Given the description of an element on the screen output the (x, y) to click on. 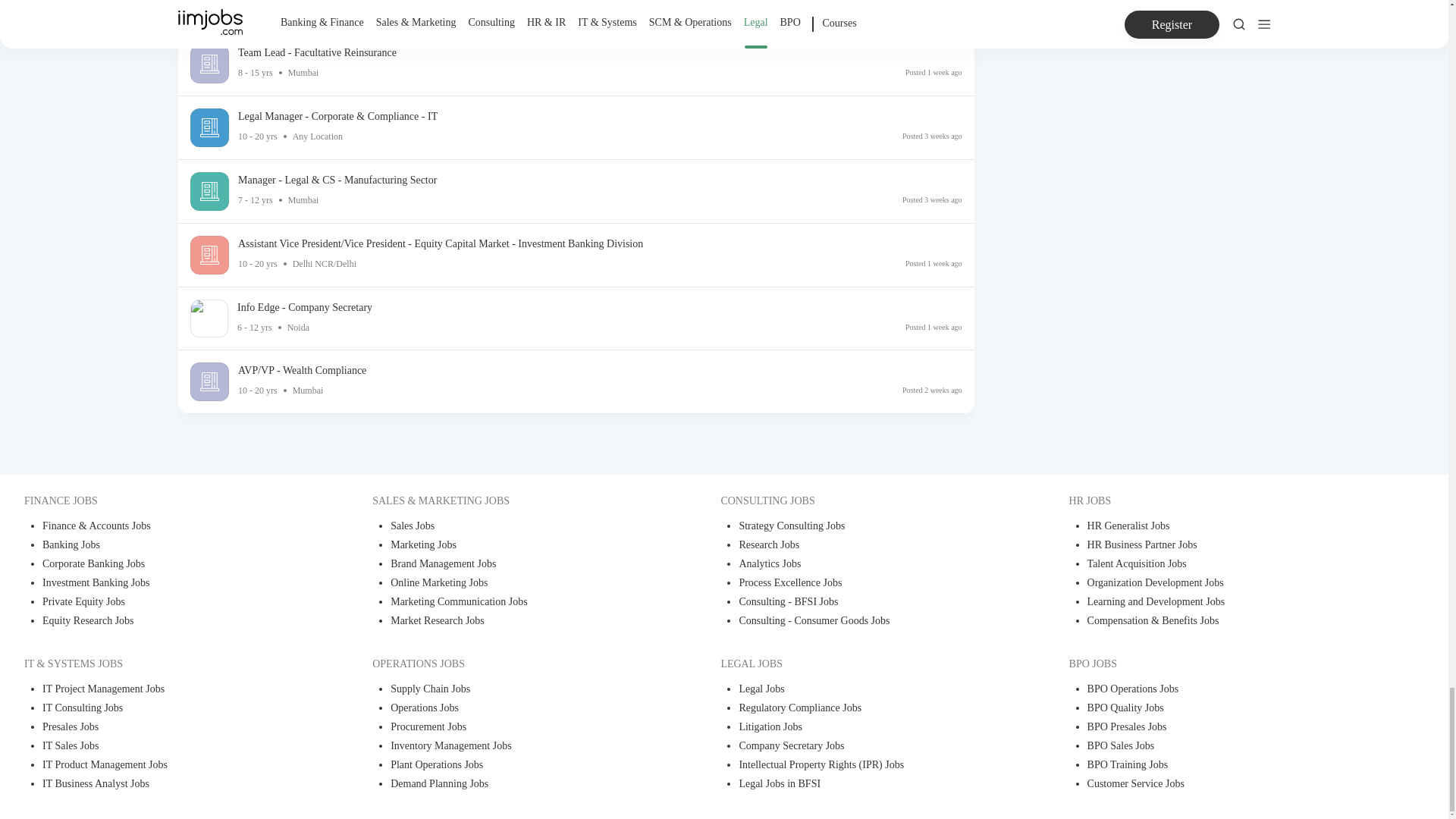
Research Jobs (869, 546)
Consulting - BFSI Jobs (869, 602)
Marketing Communication Jobs (521, 602)
Private Equity Jobs (173, 602)
Analytics Jobs (869, 565)
Equity Research Jobs (173, 621)
Corporate Banking Jobs (173, 565)
Brand Management Jobs (521, 565)
Marketing Jobs (521, 546)
Process Excellence Jobs (869, 583)
Market Research Jobs (521, 621)
Investment Banking Jobs (173, 583)
Online Marketing Jobs (521, 583)
Strategy Consulting Jobs (869, 527)
Sales Jobs (521, 527)
